Given the description of an element on the screen output the (x, y) to click on. 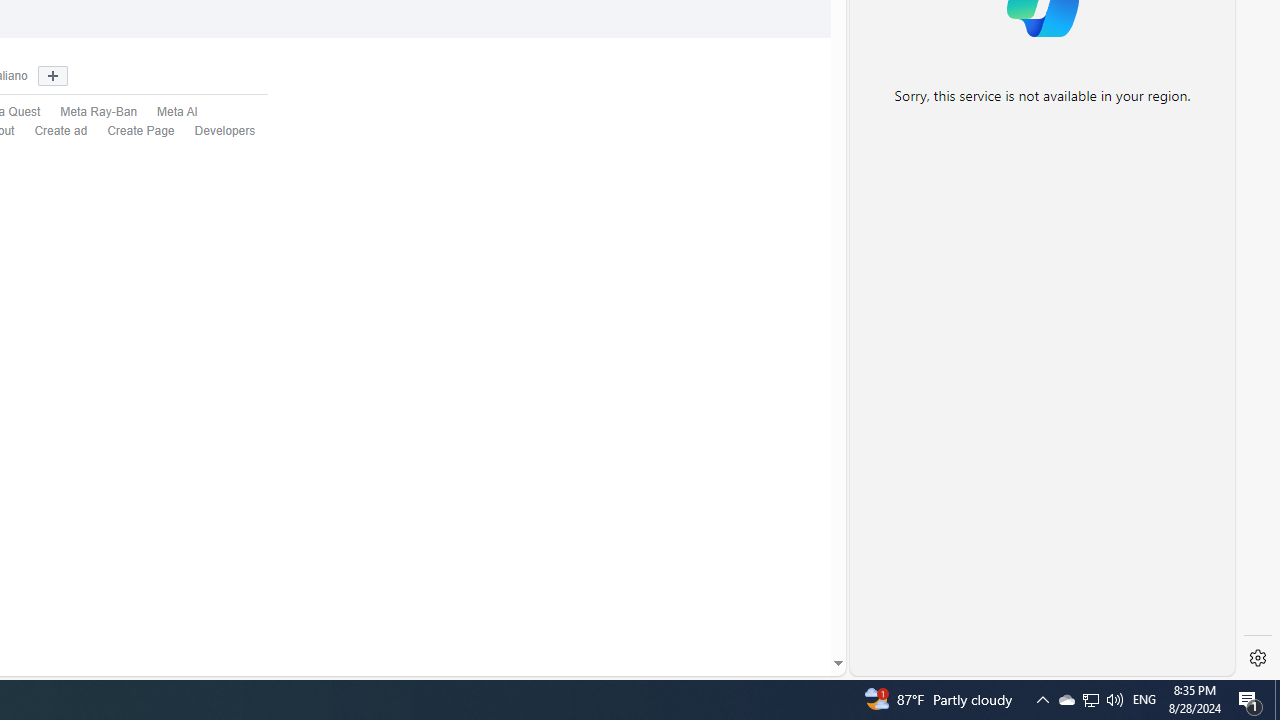
Meta Ray-Ban (88, 112)
Create Page (131, 131)
Meta Ray-Ban (99, 112)
Show more languages (52, 76)
Create ad (51, 131)
Meta AI (177, 112)
Developers (225, 130)
Create Page (141, 130)
Meta AI (167, 112)
Developers (215, 131)
Create ad (61, 130)
